Given the description of an element on the screen output the (x, y) to click on. 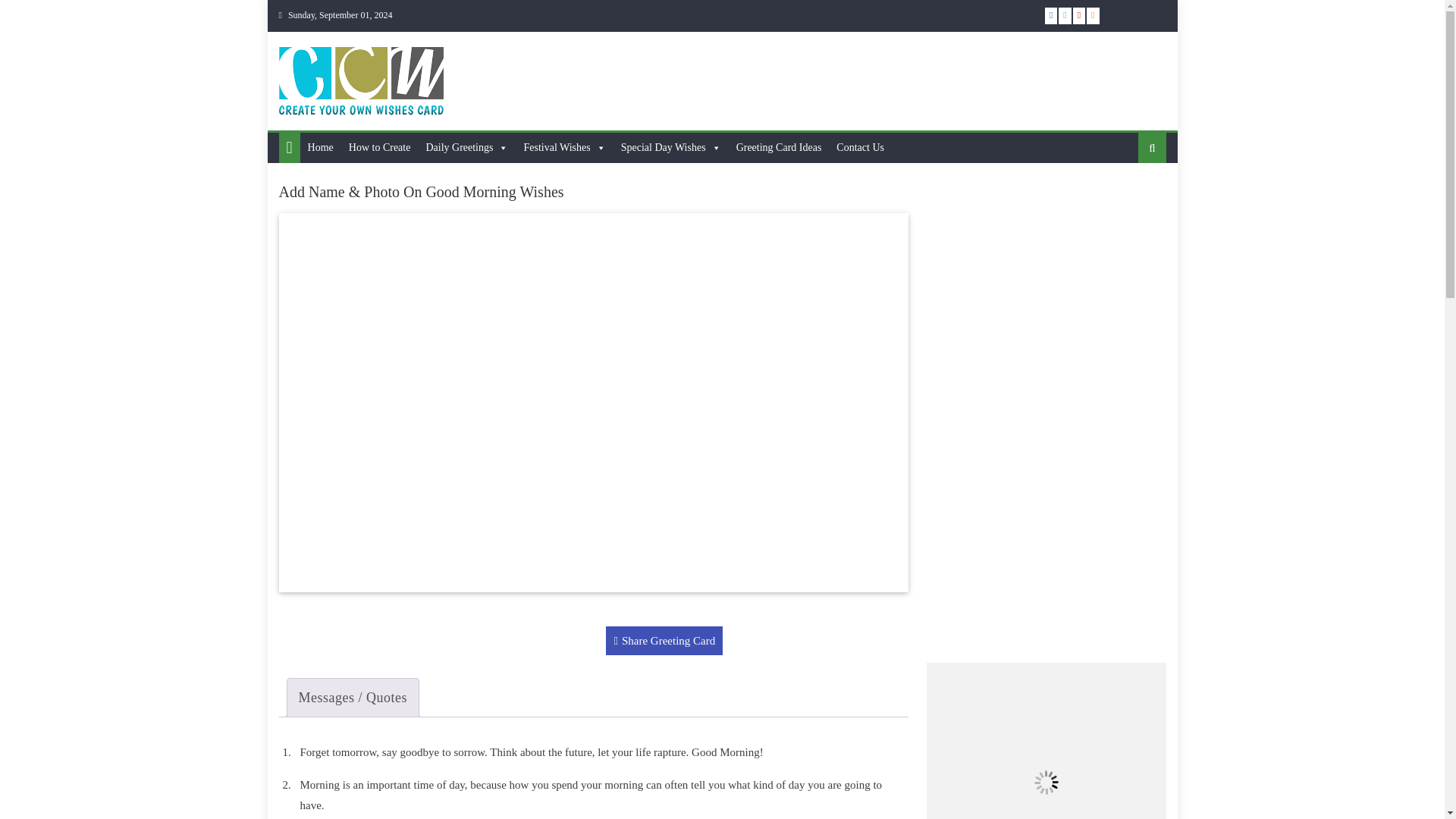
Home (319, 147)
How to Create (379, 147)
Daily Greetings (466, 147)
Festival Wishes (563, 147)
